Given the description of an element on the screen output the (x, y) to click on. 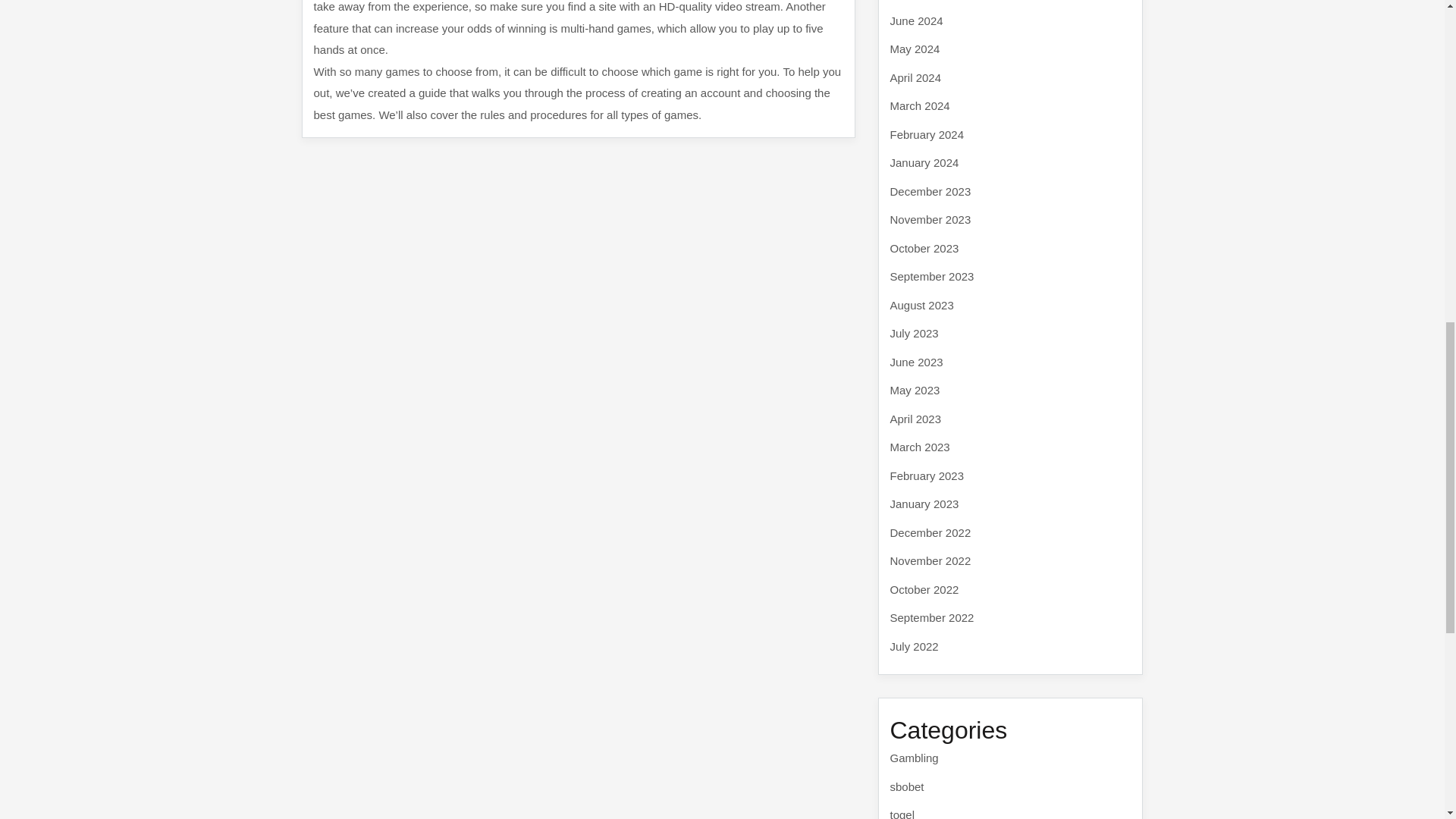
August 2023 (921, 305)
May 2023 (914, 390)
March 2023 (919, 446)
sbobet (906, 785)
December 2023 (930, 191)
June 2023 (916, 360)
October 2023 (924, 246)
Gambling (914, 757)
January 2023 (924, 503)
June 2024 (916, 19)
